Given the description of an element on the screen output the (x, y) to click on. 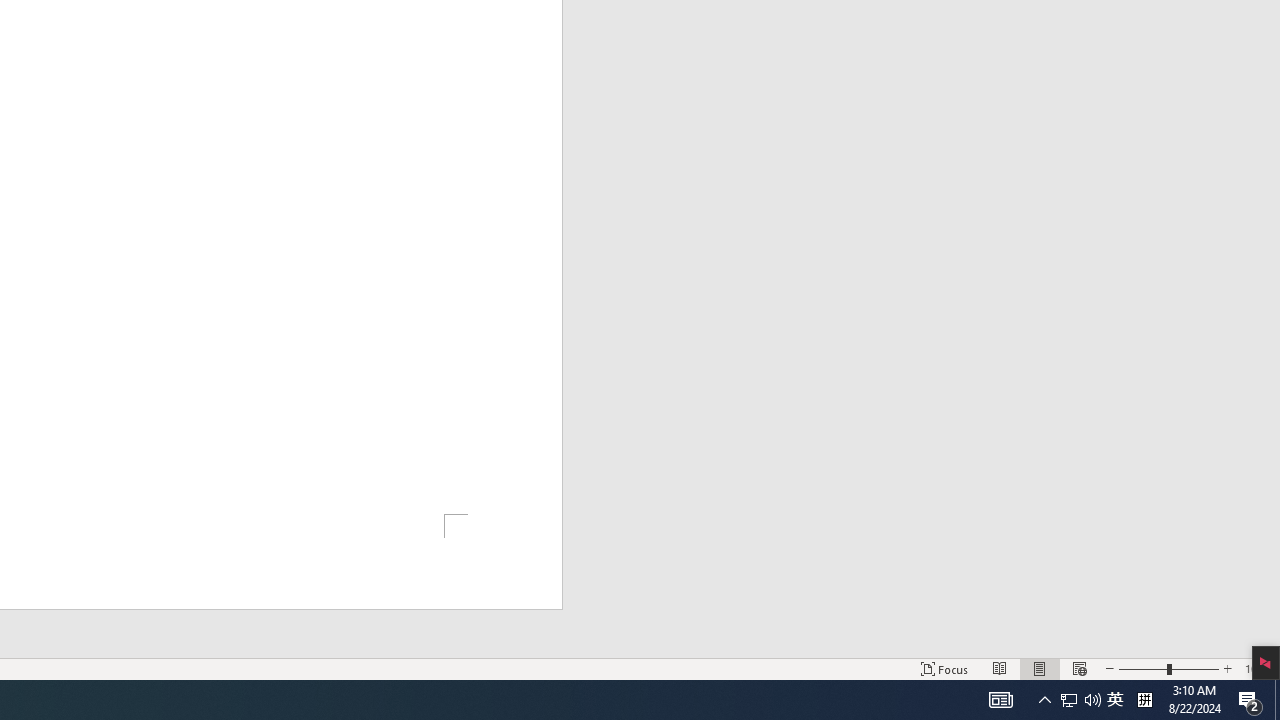
Zoom (1168, 668)
Zoom 100% (1258, 668)
